Given the description of an element on the screen output the (x, y) to click on. 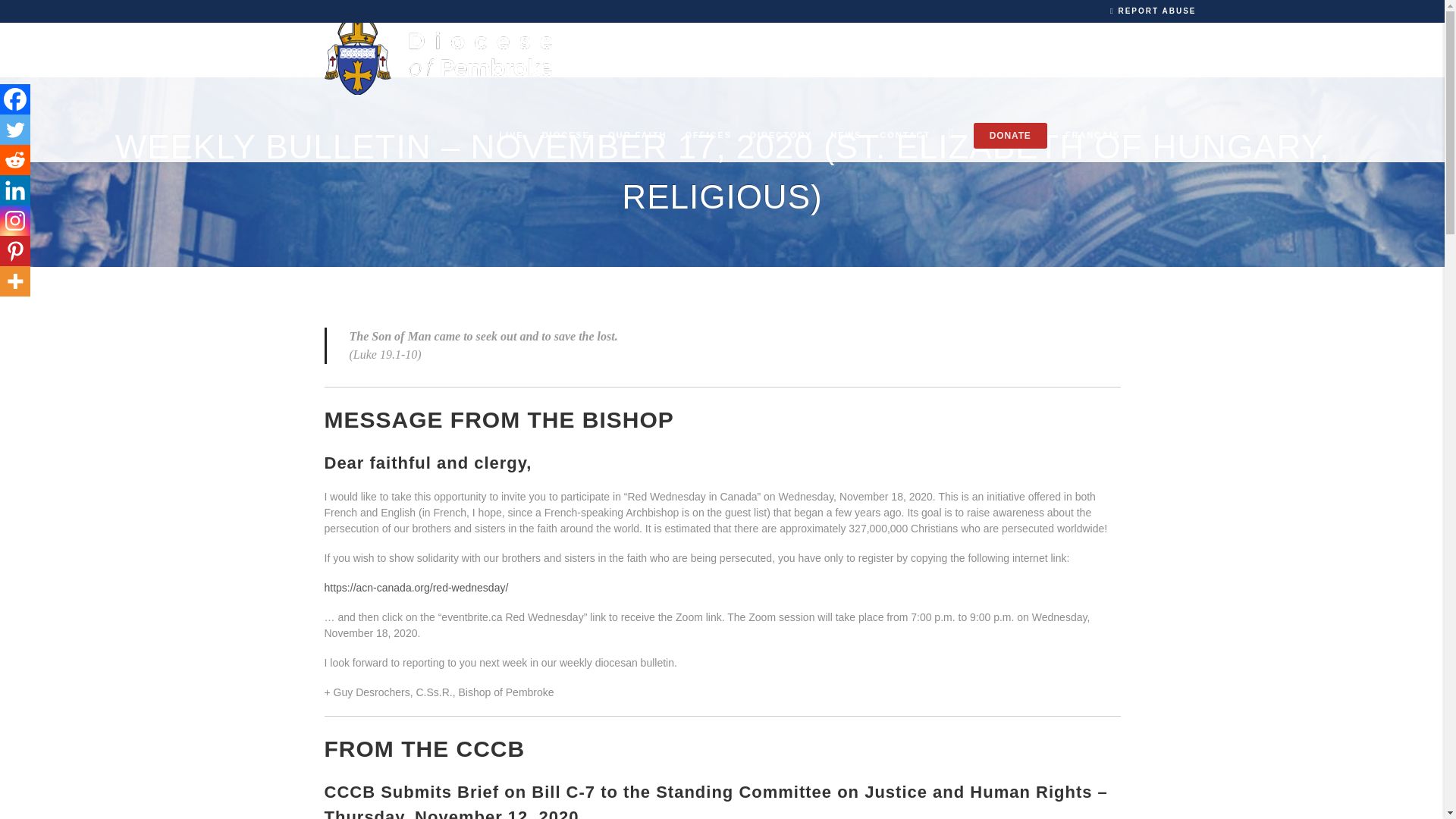
Linkedin (15, 190)
DIOCESE (565, 134)
Facebook (15, 99)
OUR FAITH (636, 134)
Twitter (15, 129)
Diocese of Pembroke  (437, 53)
Reddit (15, 159)
REPORT ABUSE (1152, 10)
More (15, 281)
OFFICES (708, 134)
